Given the description of an element on the screen output the (x, y) to click on. 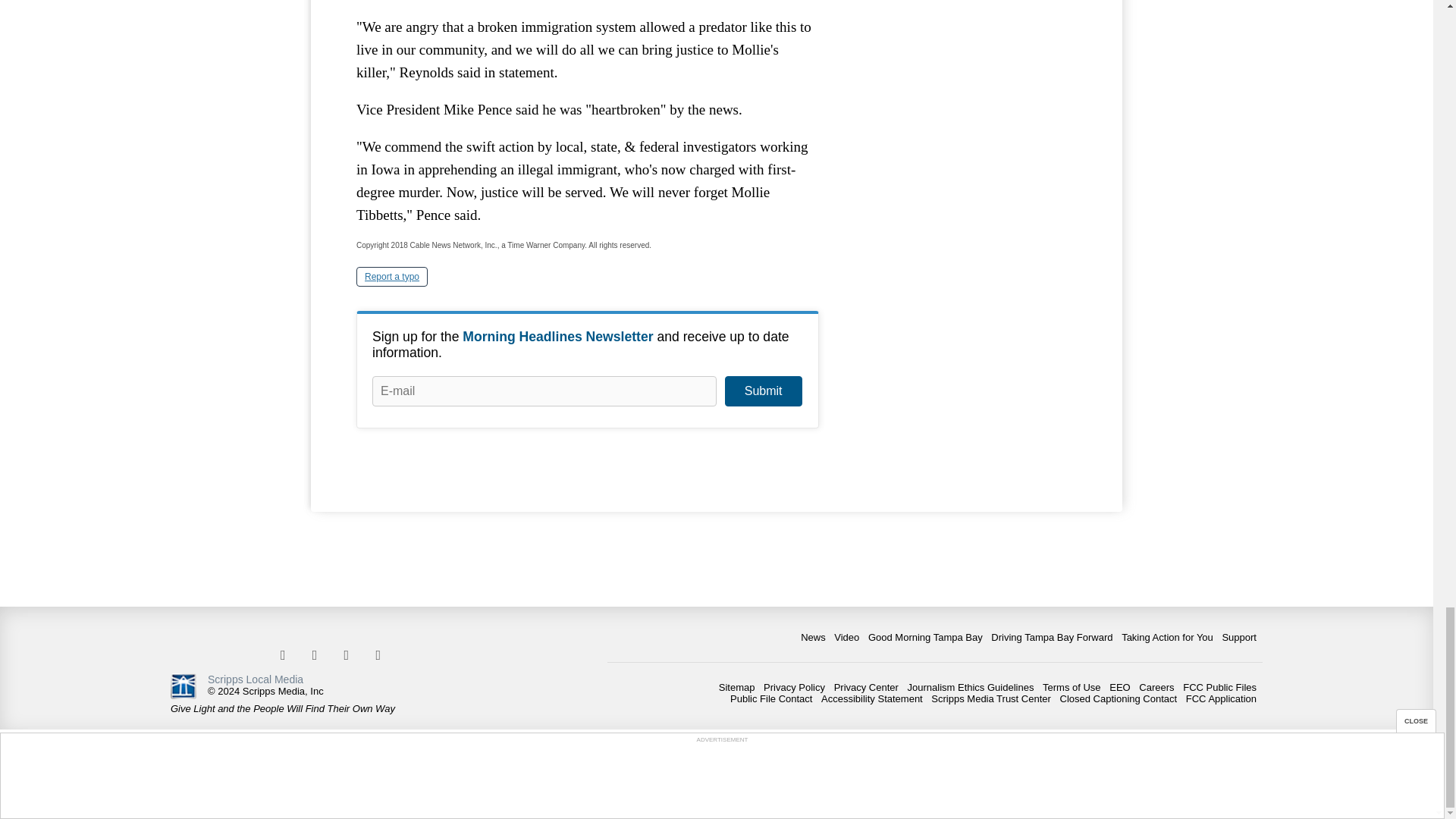
Submit (763, 390)
